Given the description of an element on the screen output the (x, y) to click on. 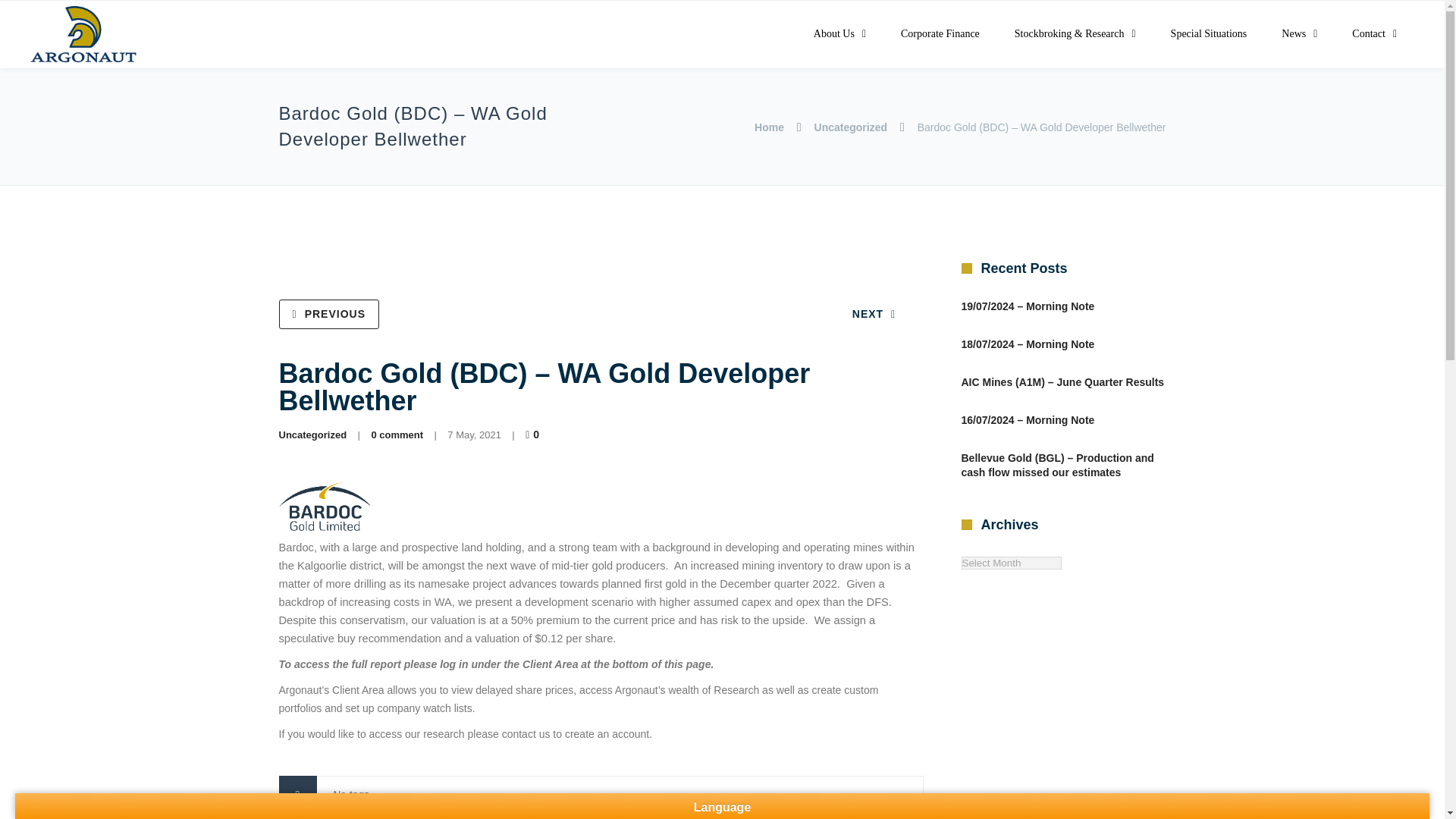
Corporate Finance (940, 33)
0 comment (397, 434)
Uncategorized (849, 127)
PREVIOUS (328, 314)
Special Situations (1209, 33)
Uncategorized (313, 434)
News (1299, 33)
NEXT (874, 314)
0  (533, 434)
About Us (839, 33)
Contact (1374, 33)
Argonaut (83, 34)
Home (769, 127)
